Given the description of an element on the screen output the (x, y) to click on. 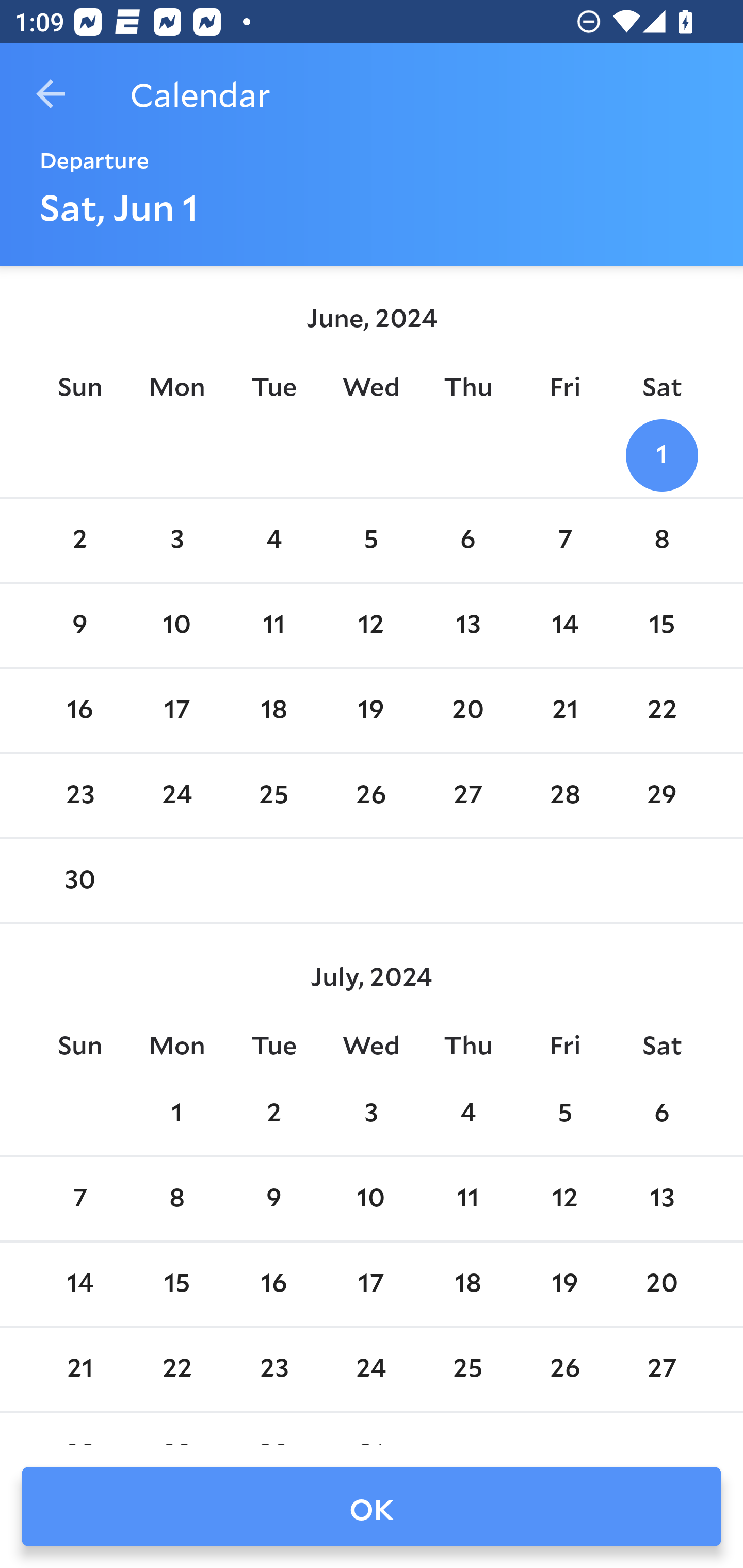
Navigate up (50, 93)
1 (661, 454)
2 (79, 540)
3 (177, 540)
4 (273, 540)
5 (371, 540)
6 (467, 540)
7 (565, 540)
8 (661, 540)
9 (79, 625)
10 (177, 625)
11 (273, 625)
12 (371, 625)
13 (467, 625)
14 (565, 625)
15 (661, 625)
16 (79, 710)
17 (177, 710)
18 (273, 710)
19 (371, 710)
20 (467, 710)
21 (565, 710)
22 (661, 710)
23 (79, 796)
24 (177, 796)
25 (273, 796)
26 (371, 796)
27 (467, 796)
28 (565, 796)
29 (661, 796)
30 (79, 881)
1 (177, 1114)
2 (273, 1114)
3 (371, 1114)
4 (467, 1114)
5 (565, 1114)
6 (661, 1114)
7 (79, 1199)
8 (177, 1199)
9 (273, 1199)
10 (371, 1199)
11 (467, 1199)
12 (565, 1199)
13 (661, 1199)
14 (79, 1284)
15 (177, 1284)
16 (273, 1284)
17 (371, 1284)
18 (467, 1284)
19 (565, 1284)
20 (661, 1284)
21 (79, 1368)
22 (177, 1368)
23 (273, 1368)
24 (371, 1368)
25 (467, 1368)
26 (565, 1368)
27 (661, 1368)
OK (371, 1506)
